Given the description of an element on the screen output the (x, y) to click on. 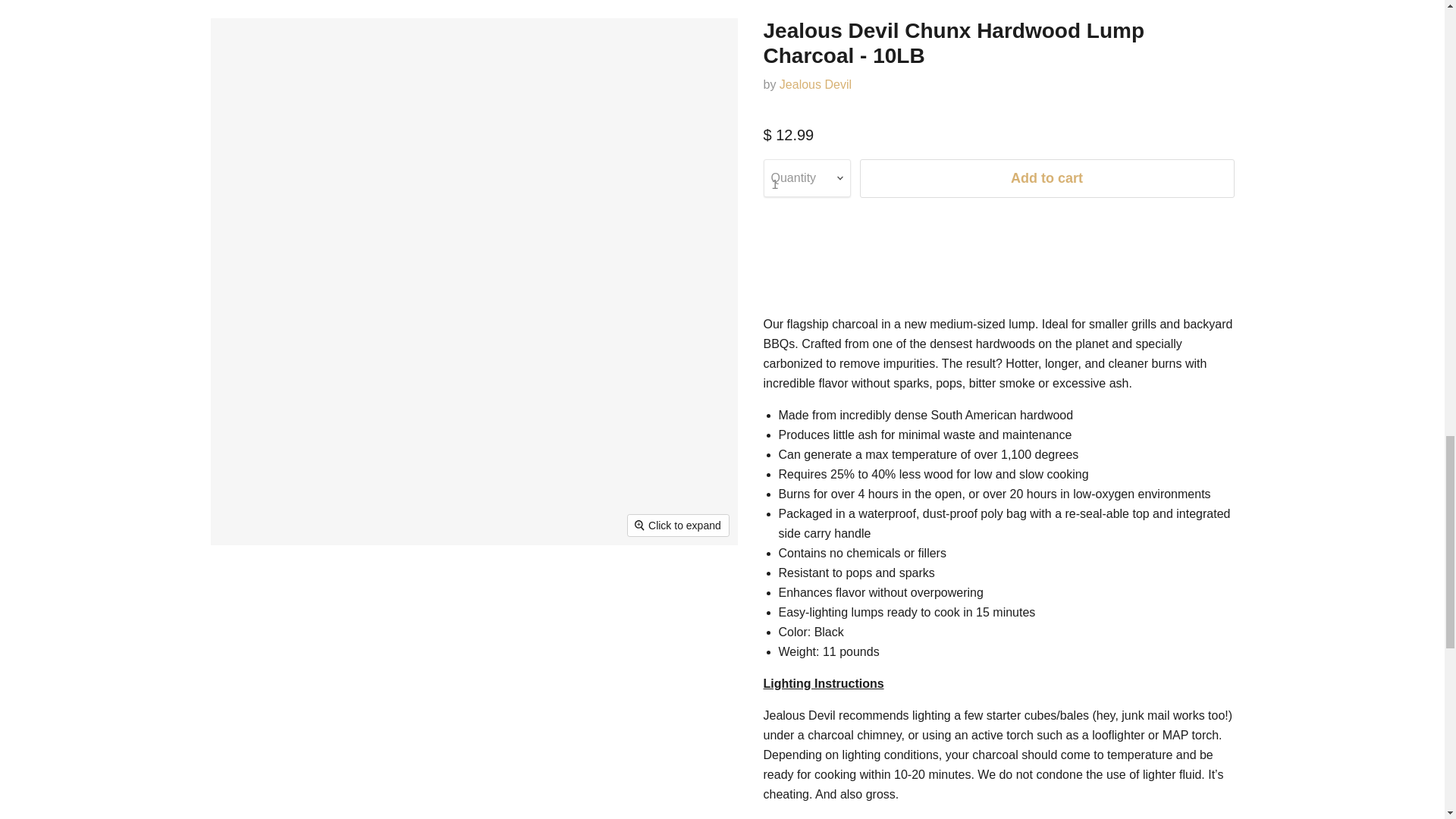
Jealous Devil (814, 83)
